Given the description of an element on the screen output the (x, y) to click on. 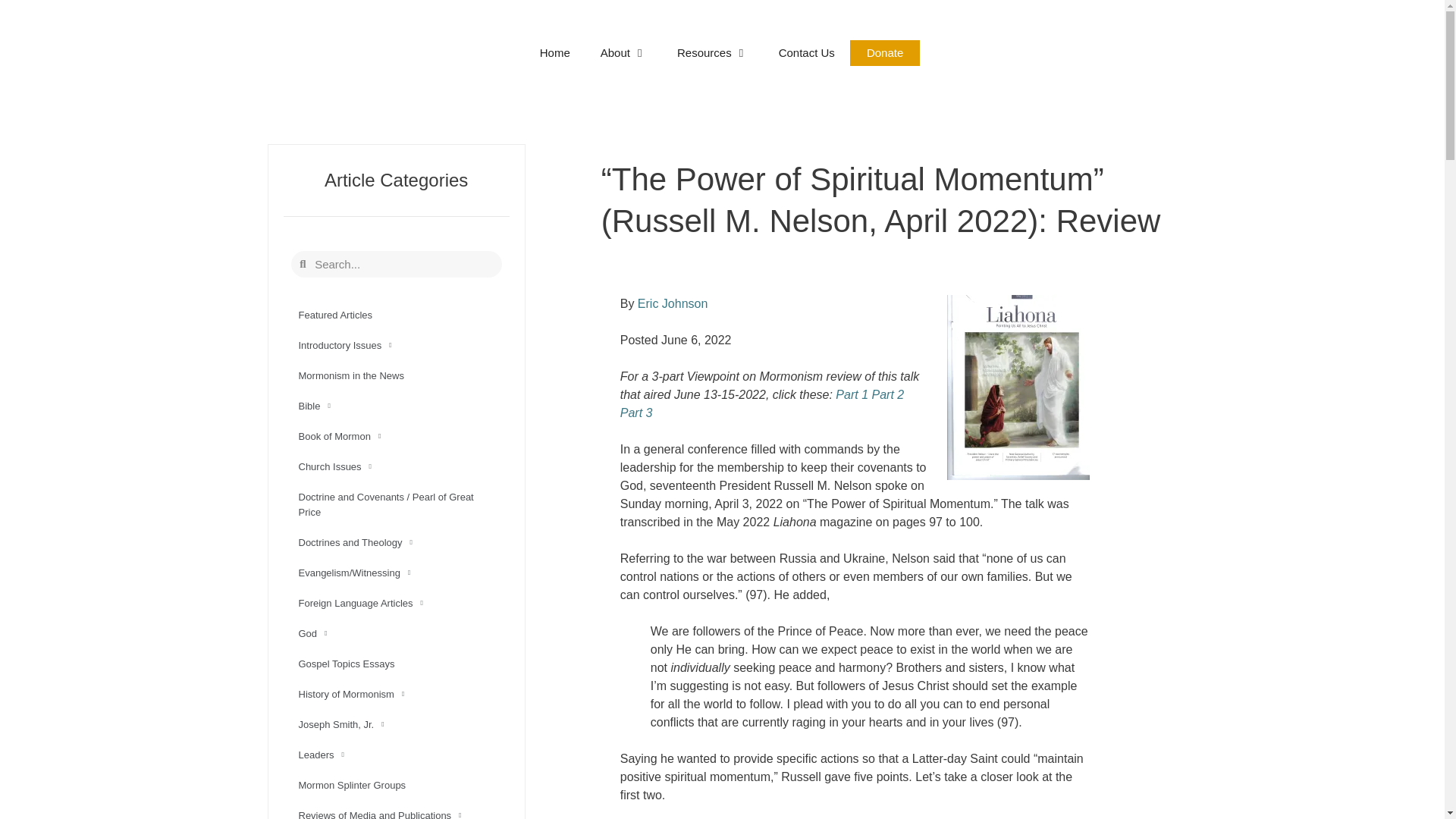
Donate (885, 53)
About (623, 53)
Home (554, 53)
Resources (712, 53)
Contact Us (806, 53)
All Articles Topics (712, 53)
Search (403, 263)
